Given the description of an element on the screen output the (x, y) to click on. 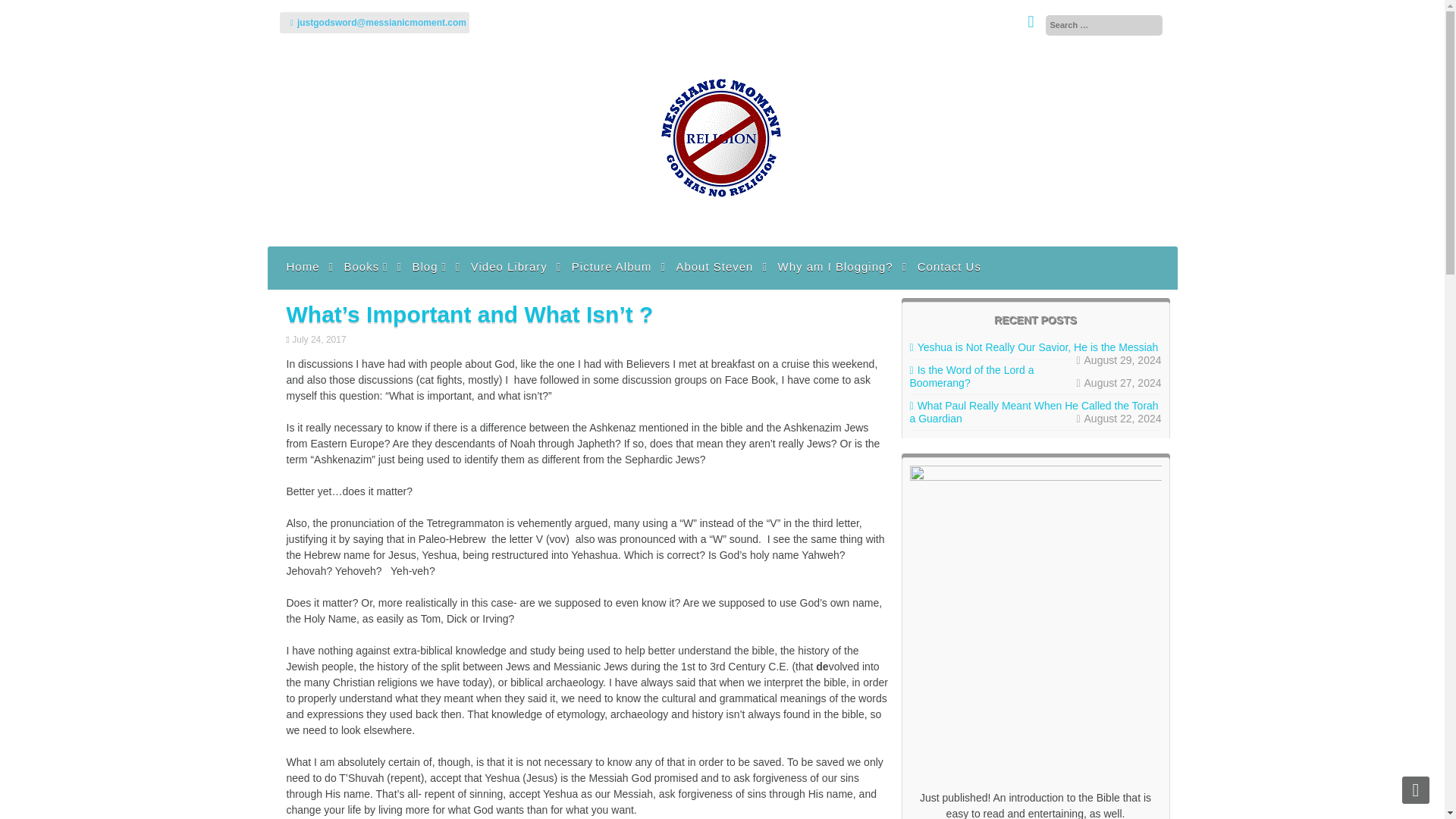
Messianic Moment (722, 231)
Picture Album (612, 265)
Books (366, 265)
Why am I Blogging? (834, 265)
Contact Us (949, 265)
About Steven (713, 265)
Video Library (509, 265)
July 24, 2017 (320, 339)
Blog (428, 265)
Search (28, 12)
